Given the description of an element on the screen output the (x, y) to click on. 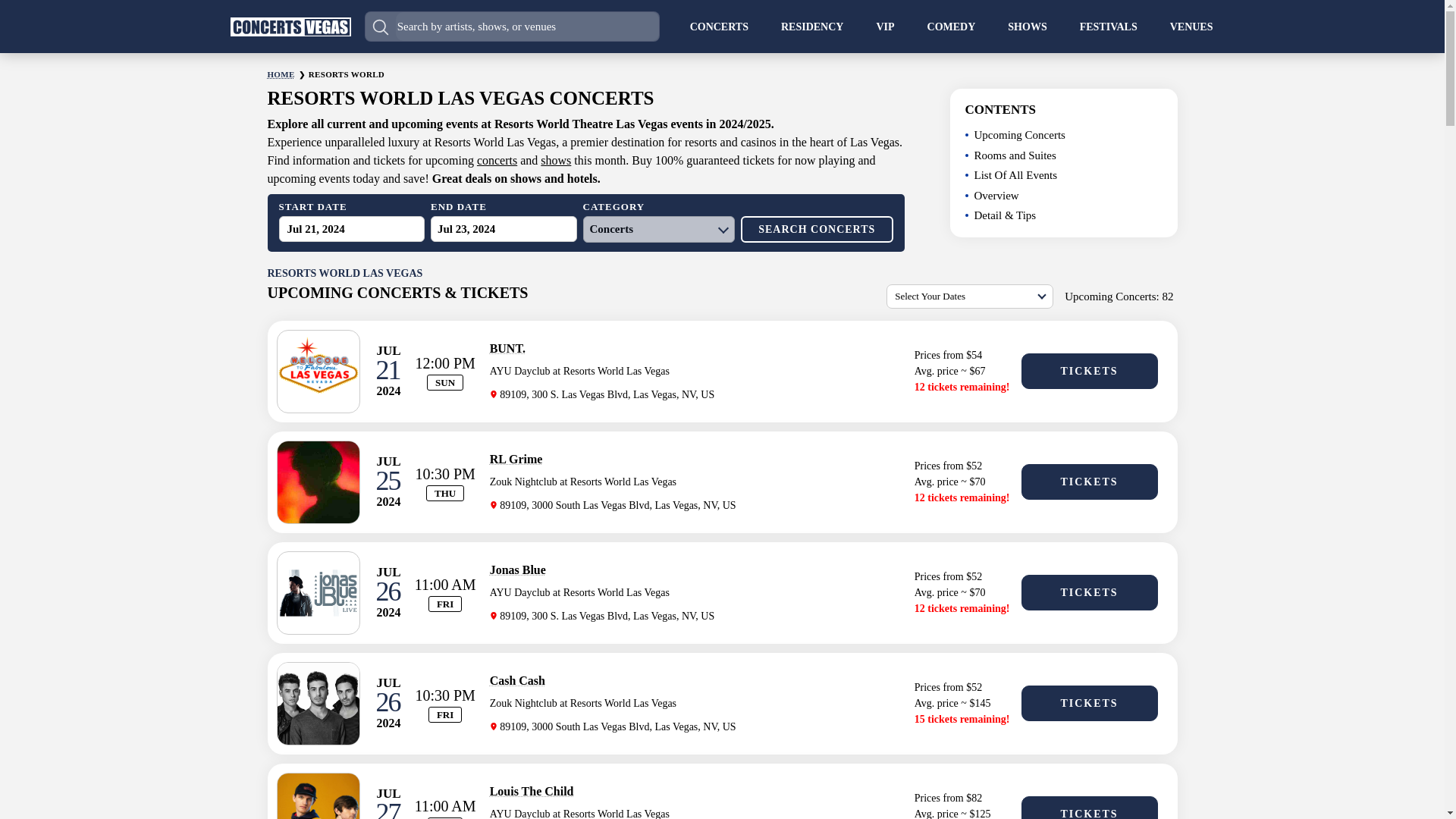
TICKETS (1088, 703)
RESIDENCY (811, 26)
SHOWS (1026, 26)
Louis The Child (531, 790)
Jonas Blue (517, 569)
Cash Cash (516, 680)
BUNT. (507, 348)
concerts (496, 159)
RL Grime (516, 459)
TICKETS (1088, 592)
HOME (280, 73)
TICKETS (1088, 481)
VENUES (1191, 26)
TICKETS (1088, 370)
TICKETS (1088, 807)
